Given the description of an element on the screen output the (x, y) to click on. 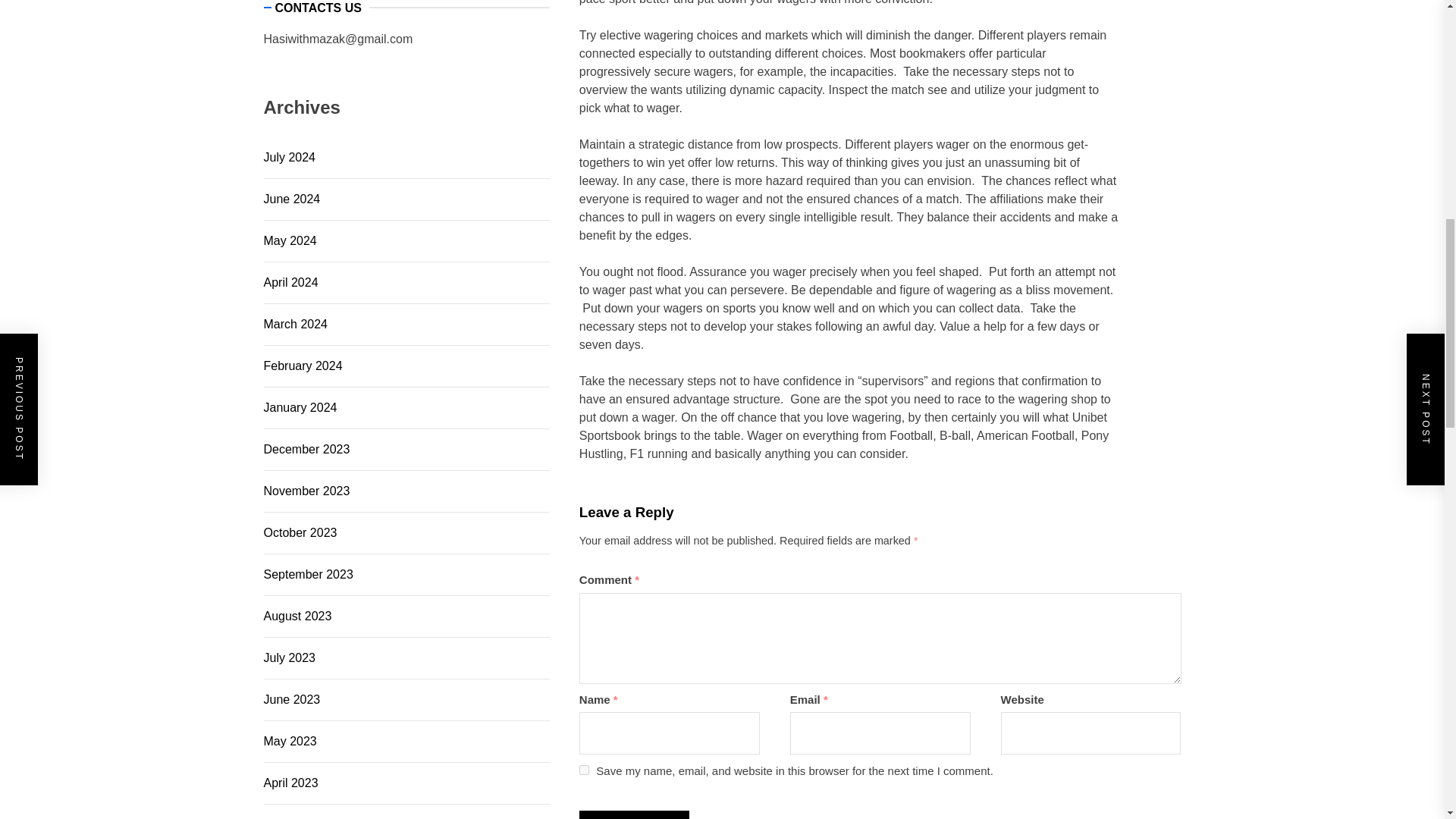
Post Comment (633, 814)
yes (584, 769)
